Given the description of an element on the screen output the (x, y) to click on. 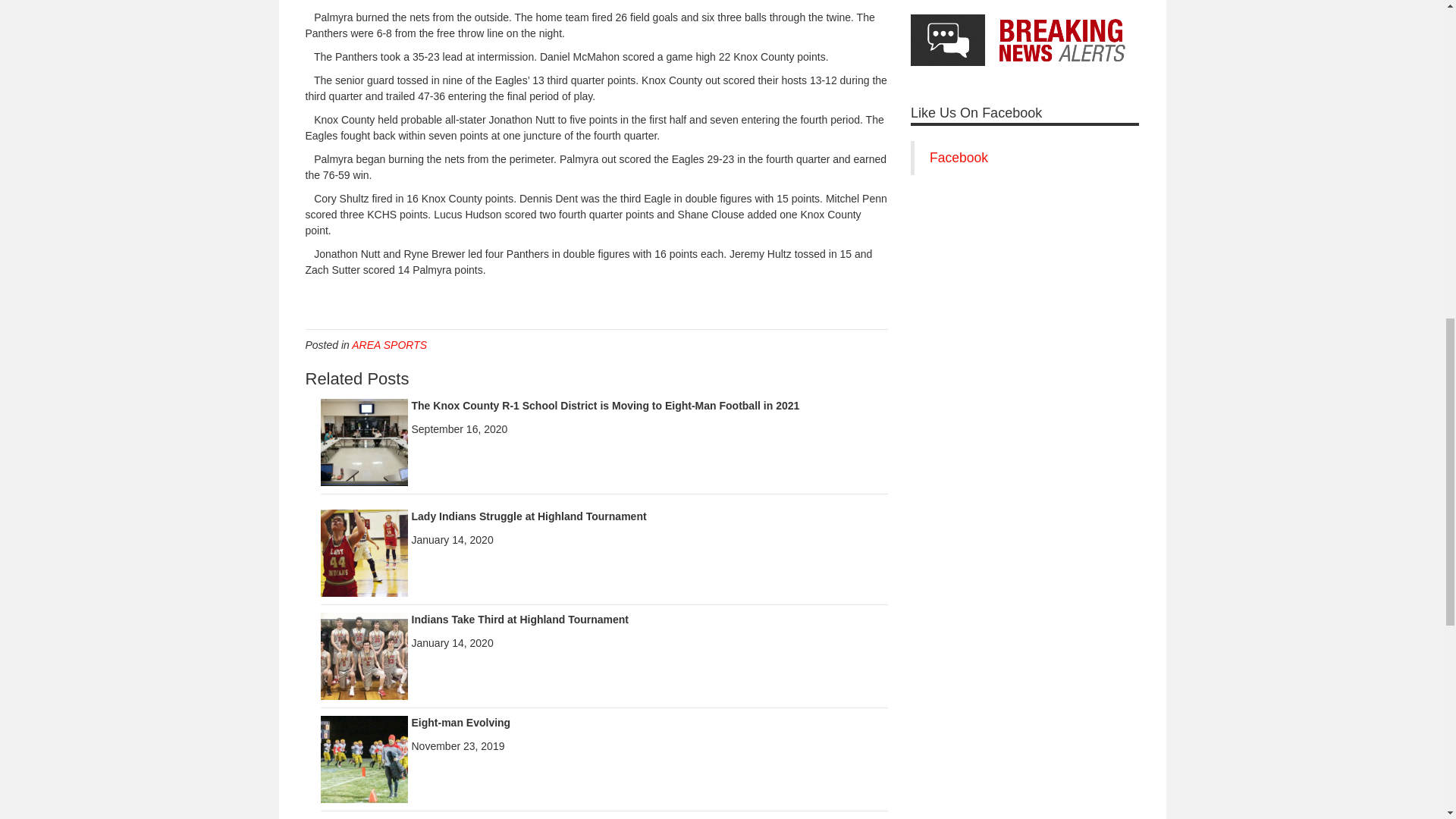
AREA SPORTS (389, 345)
Indians Take Third at Highland Tournament (363, 654)
Lady Indians Struggle at Highland Tournament (528, 516)
Eight-man Evolving (363, 758)
Eight-man Evolving (460, 722)
Indians Take Third at Highland Tournament (519, 619)
Lady Indians Struggle at Highland Tournament (363, 551)
